Given the description of an element on the screen output the (x, y) to click on. 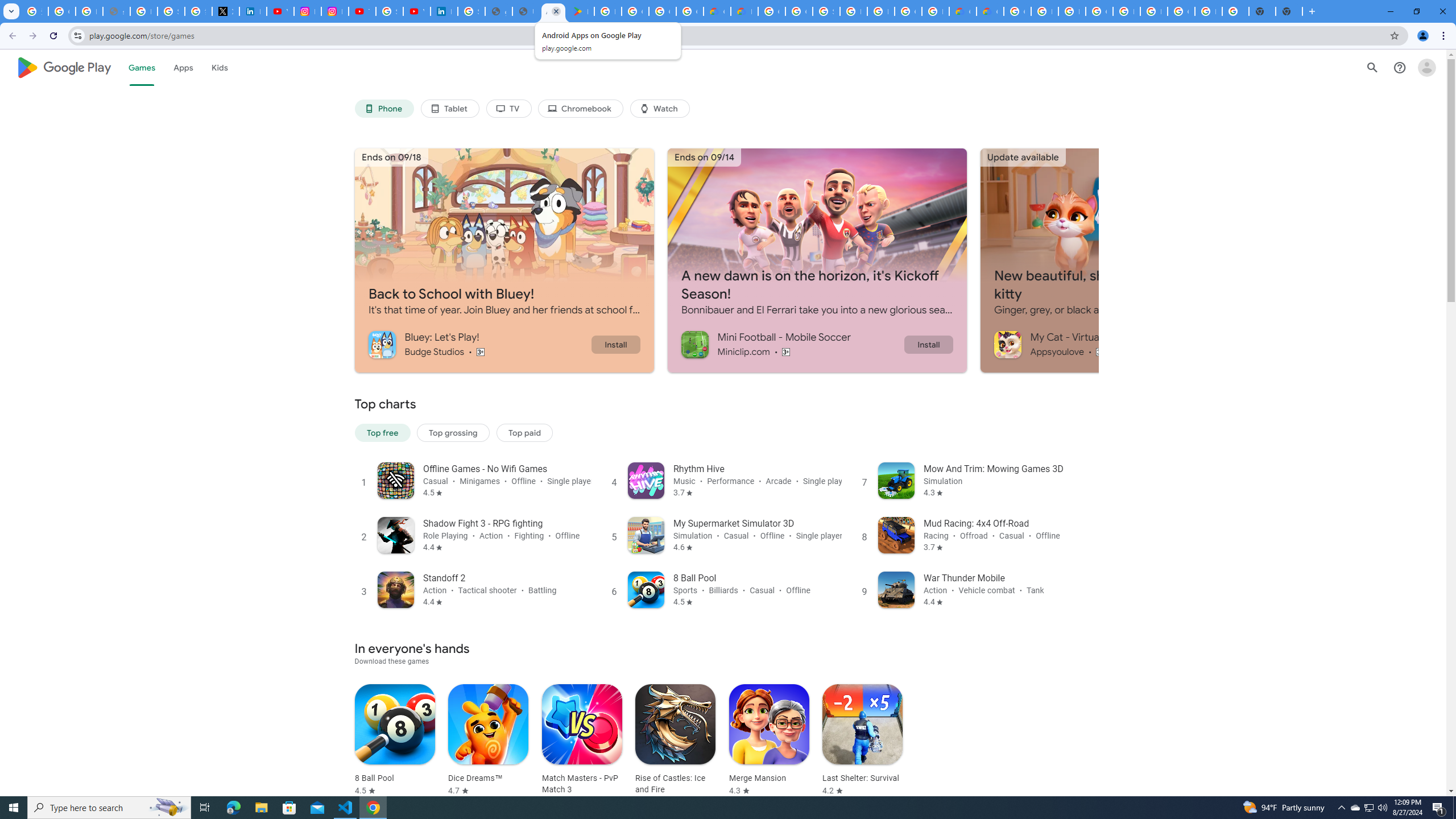
Identity verification via Persona | LinkedIn Help (444, 11)
Phone (383, 108)
Install (928, 343)
Browse Chrome as a guest - Computer - Google Chrome Help (1044, 11)
Bluey: Let's Play! Budge Studios Content rating Rated for 3+ (479, 344)
support.google.com - Network error (116, 11)
LinkedIn Privacy Policy (253, 11)
